Given the description of an element on the screen output the (x, y) to click on. 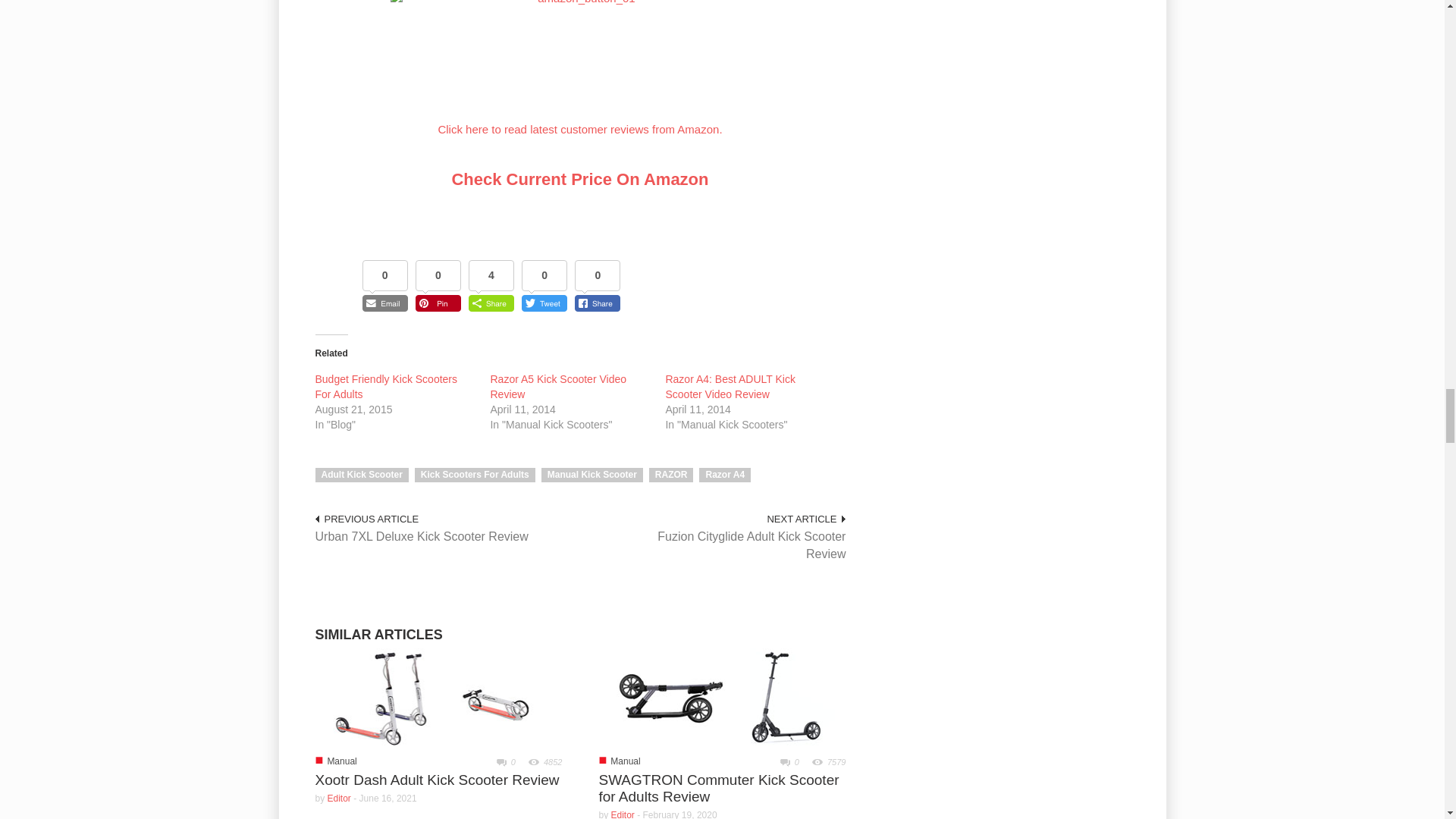
SWAGTRON Commuter Kick Scooter for Adults Review (718, 788)
Razor A5 Kick Scooter Video Review (557, 386)
Budget Friendly Kick Scooters For Adults (386, 386)
Razor A4: Best ADULT Kick Scooter Video Review (729, 386)
SWAGTRON Commuter Kick Scooter for Adults Review (721, 697)
SWAGTRON Commuter Kick Scooter for Adults Review (721, 698)
Xootr Dash Adult Kick Scooter Review (437, 779)
Xootr Dash Adult Kick Scooter Review (438, 698)
Xootr Dash Adult Kick Scooter Review (438, 697)
